Given the description of an element on the screen output the (x, y) to click on. 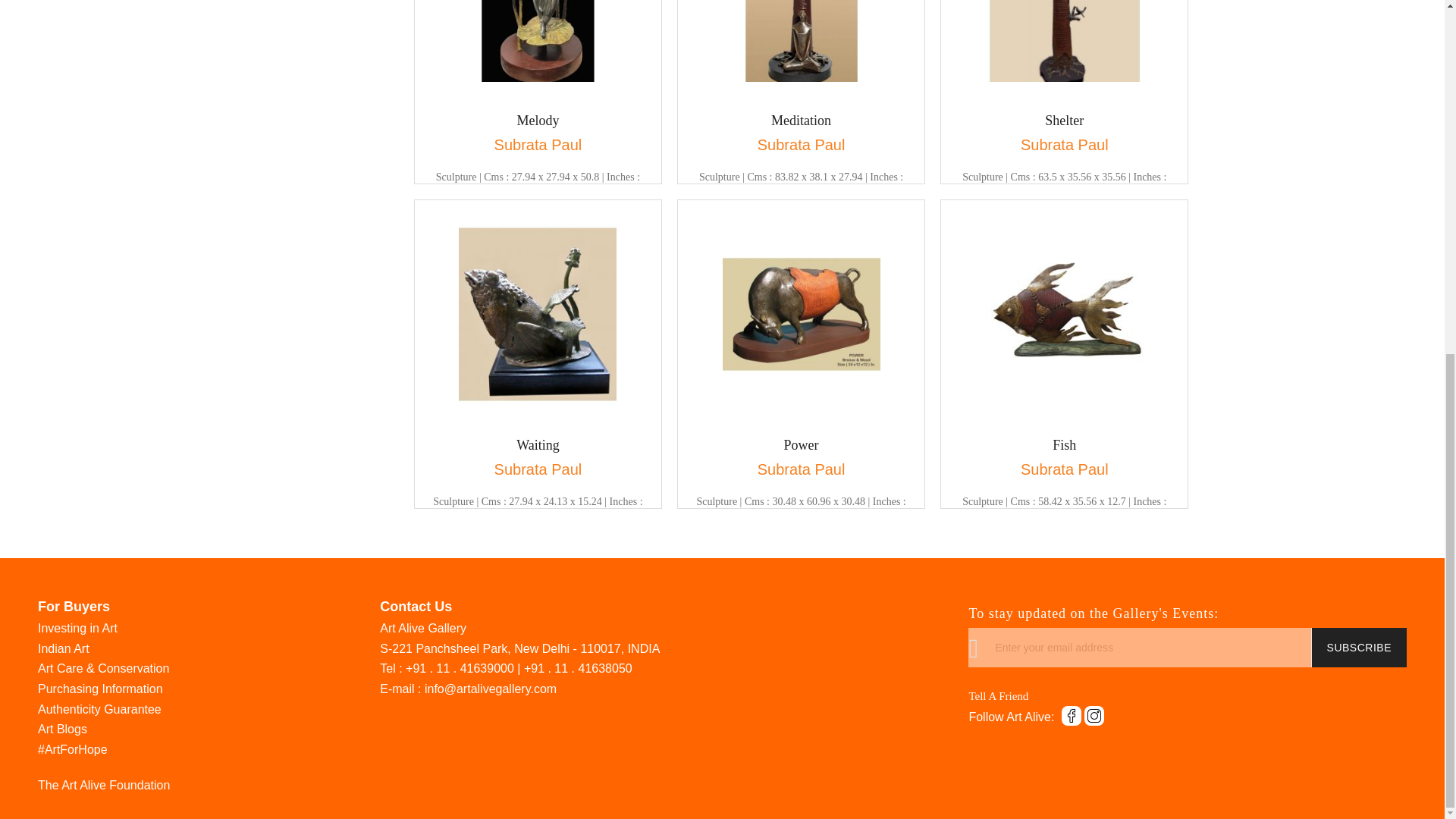
Shelter (1064, 120)
Waiting (537, 445)
Meditation (801, 120)
Melody (537, 120)
